Given the description of an element on the screen output the (x, y) to click on. 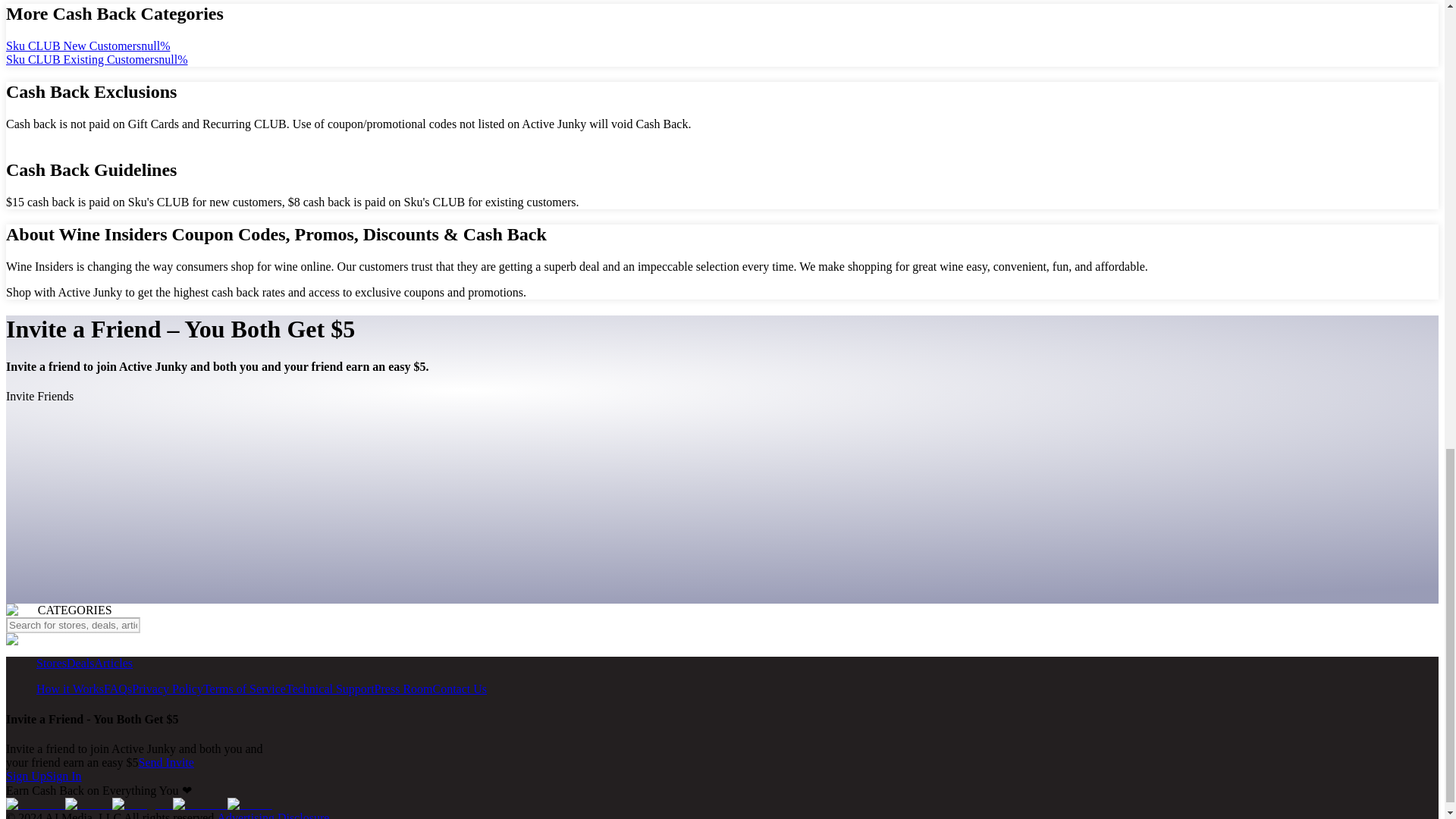
Technical Support (329, 688)
FAQs (117, 688)
Deals (80, 662)
How it Works (69, 688)
Articles (113, 662)
Privacy Policy (167, 688)
Terms of Service (244, 688)
Contact Us (459, 688)
Press Room (403, 688)
Sign Up (25, 775)
